Given the description of an element on the screen output the (x, y) to click on. 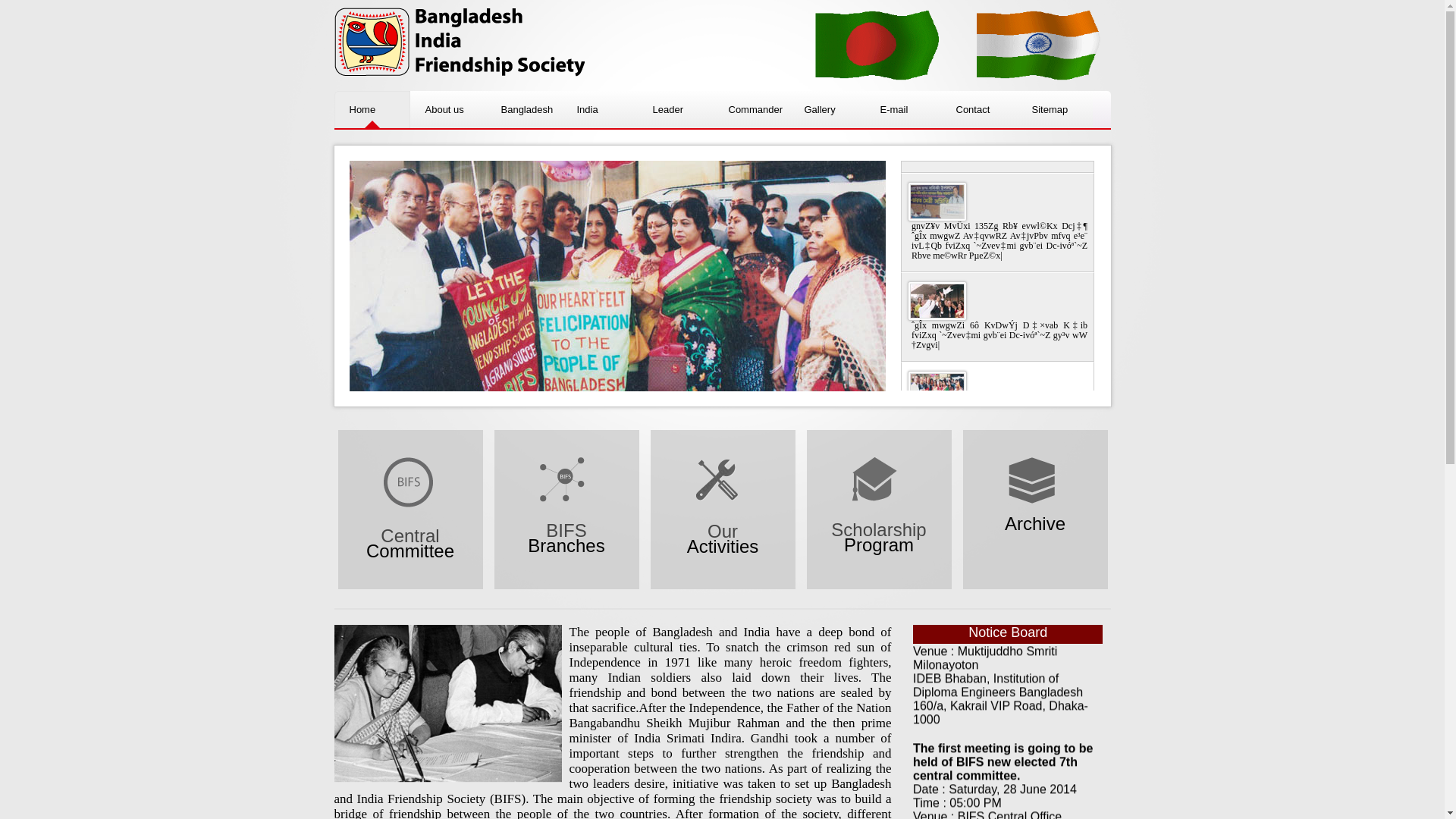
Commander Element type: text (750, 109)
Leader Element type: text (674, 109)
Archive Element type: text (1035, 522)
BIFS Element type: text (458, 44)
E-mail Element type: text (902, 109)
Sitemap Element type: text (1054, 109)
India Element type: text (599, 109)
Contact Element type: text (978, 109)
Bangladesh Element type: text (523, 109)
Central
Committee Element type: text (410, 522)
About us Element type: text (447, 109)
Scholarship
Program Element type: text (878, 522)
BIFS
Branches Element type: text (566, 522)
Home Element type: text (371, 109)
Gallery Element type: text (826, 109)
Our
Activities Element type: text (722, 522)
